Given the description of an element on the screen output the (x, y) to click on. 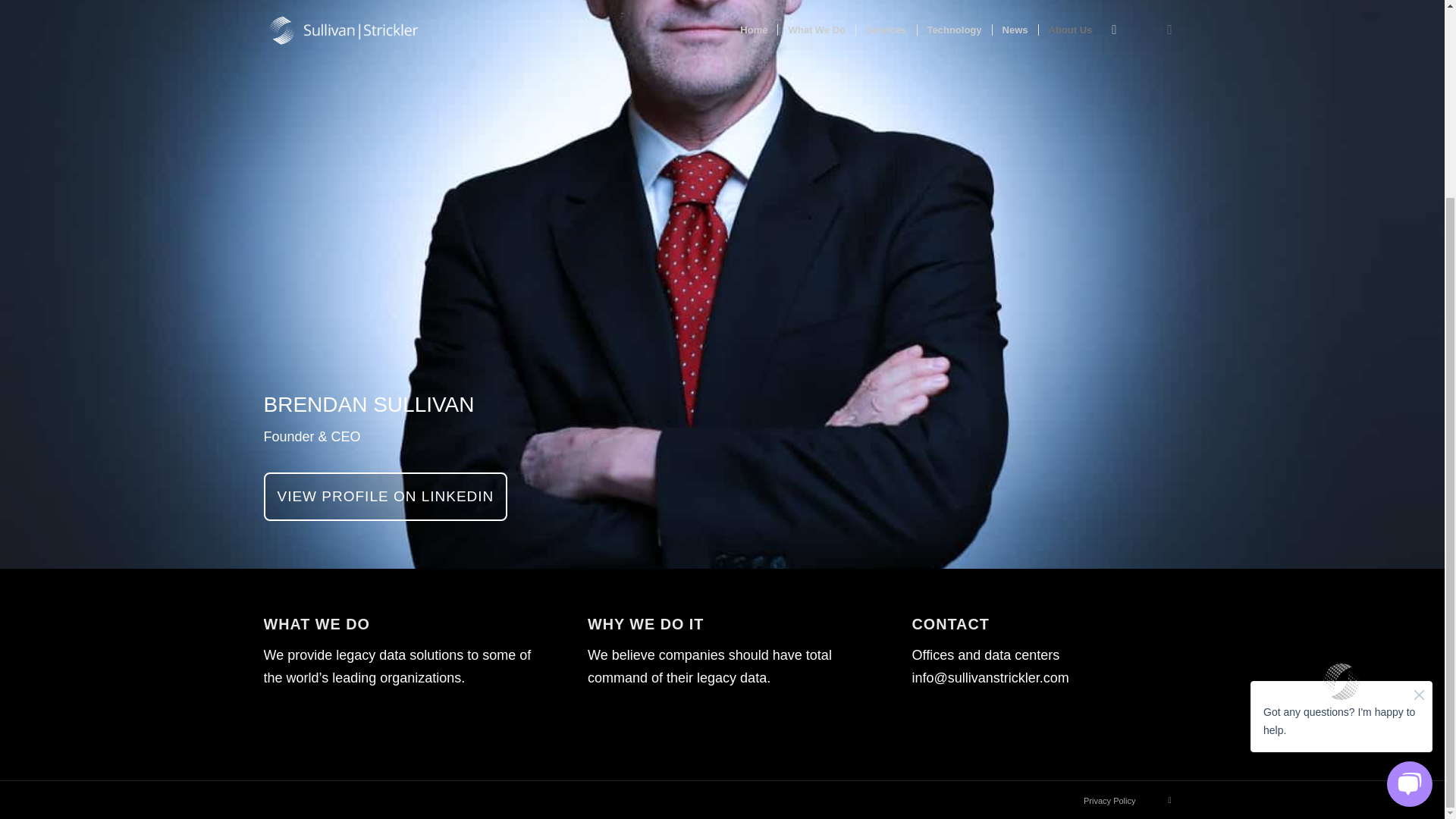
VIEW PROFILE ON LINKEDIN (385, 496)
